Given the description of an element on the screen output the (x, y) to click on. 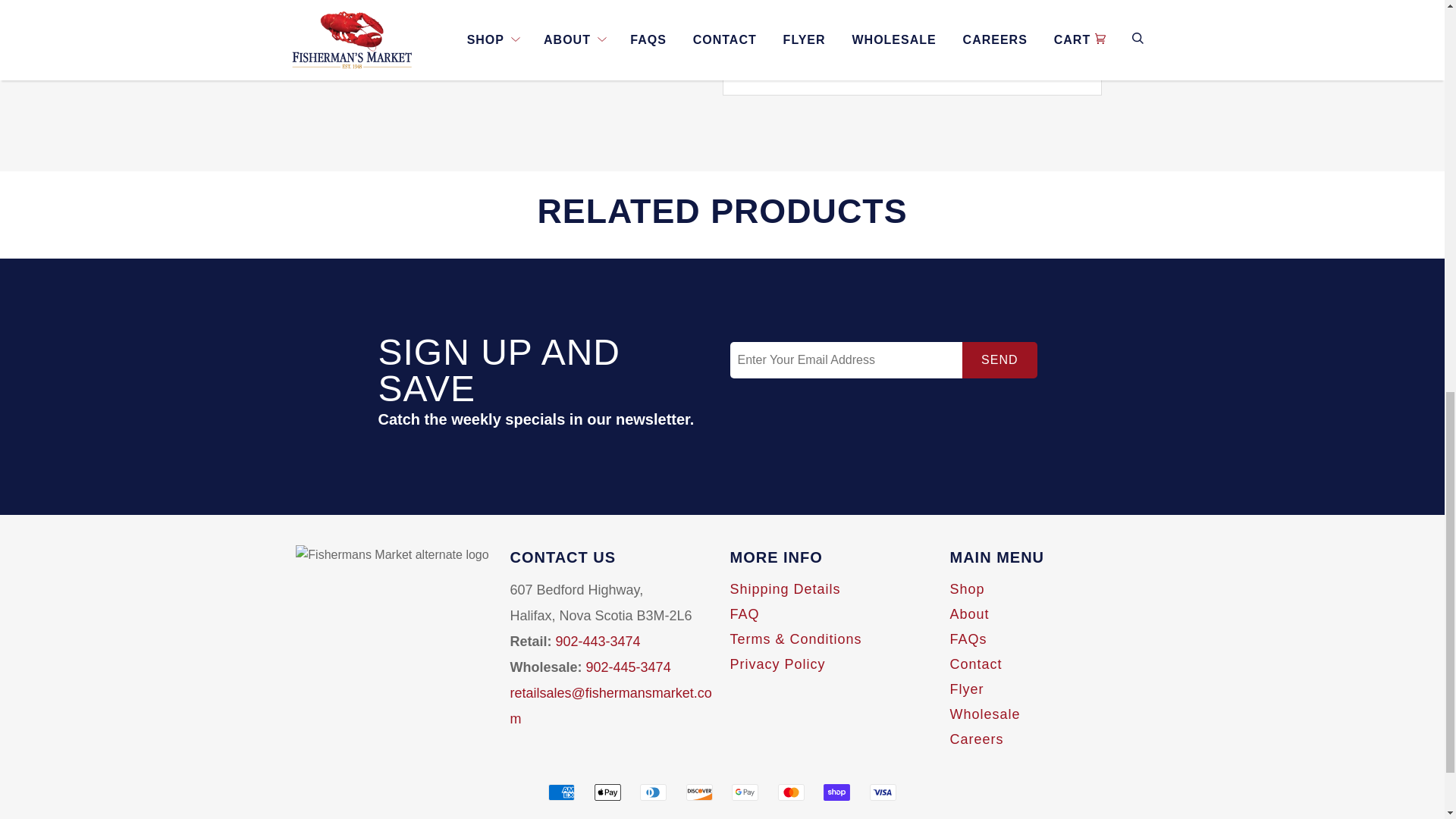
tel:9024433474 (598, 641)
AMERICAN EXPRESS (561, 791)
Send (999, 360)
SHOP PAY (837, 791)
VISA (882, 791)
GOOGLE PAY (745, 791)
DISCOVER (699, 791)
DINERS CLUB (653, 791)
tel:9024453474 (628, 667)
APPLE PAY (607, 791)
